Given the description of an element on the screen output the (x, y) to click on. 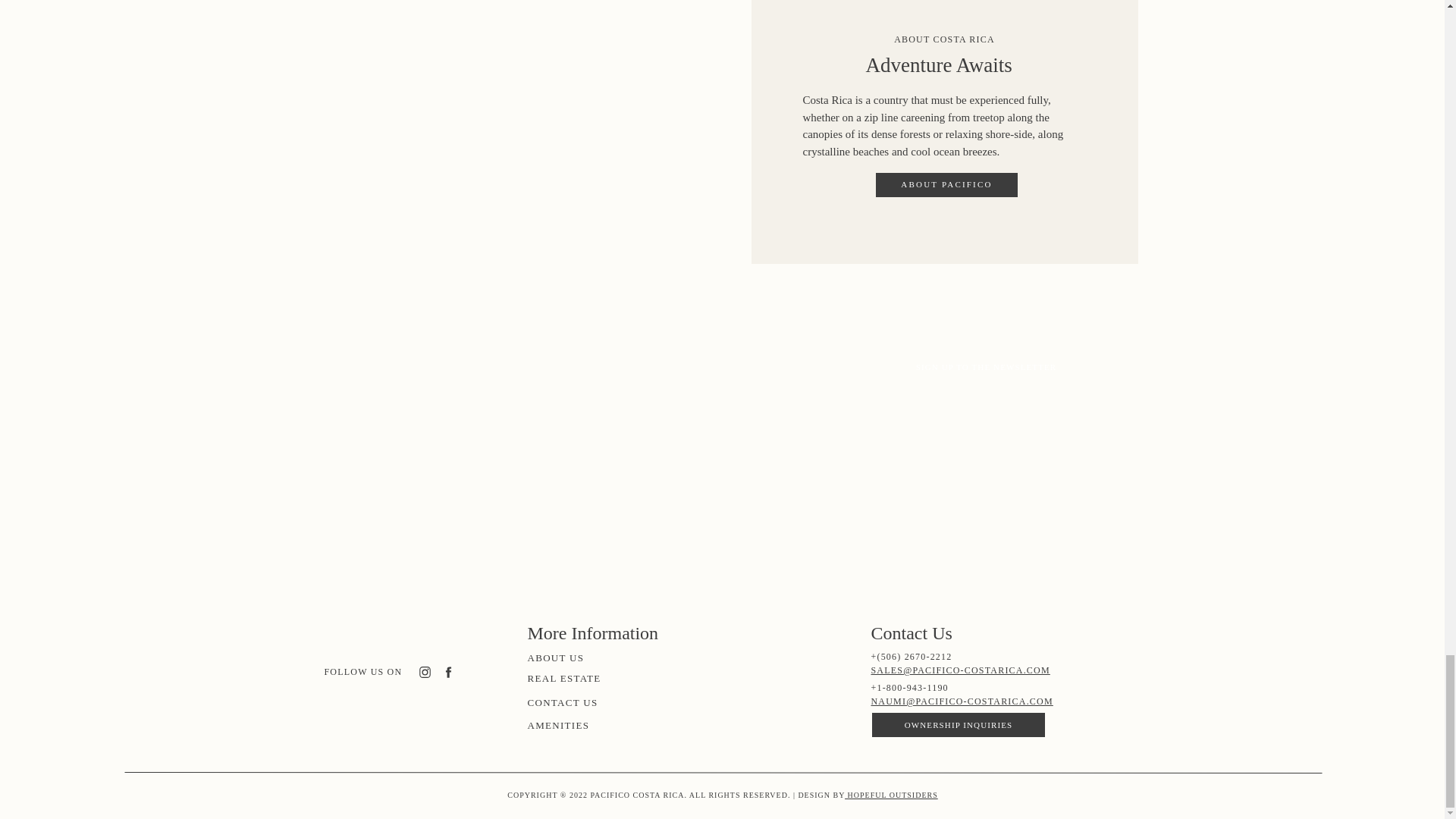
HOPEFUL OUTSIDERS (890, 795)
ABOUT PACIFICO (946, 183)
REAL ESTATE (604, 677)
CONTACT US (577, 702)
SIGN UP TO THE NEWSLETTER (985, 366)
AMENITIES (577, 725)
ABOUT US (577, 657)
